Given the description of an element on the screen output the (x, y) to click on. 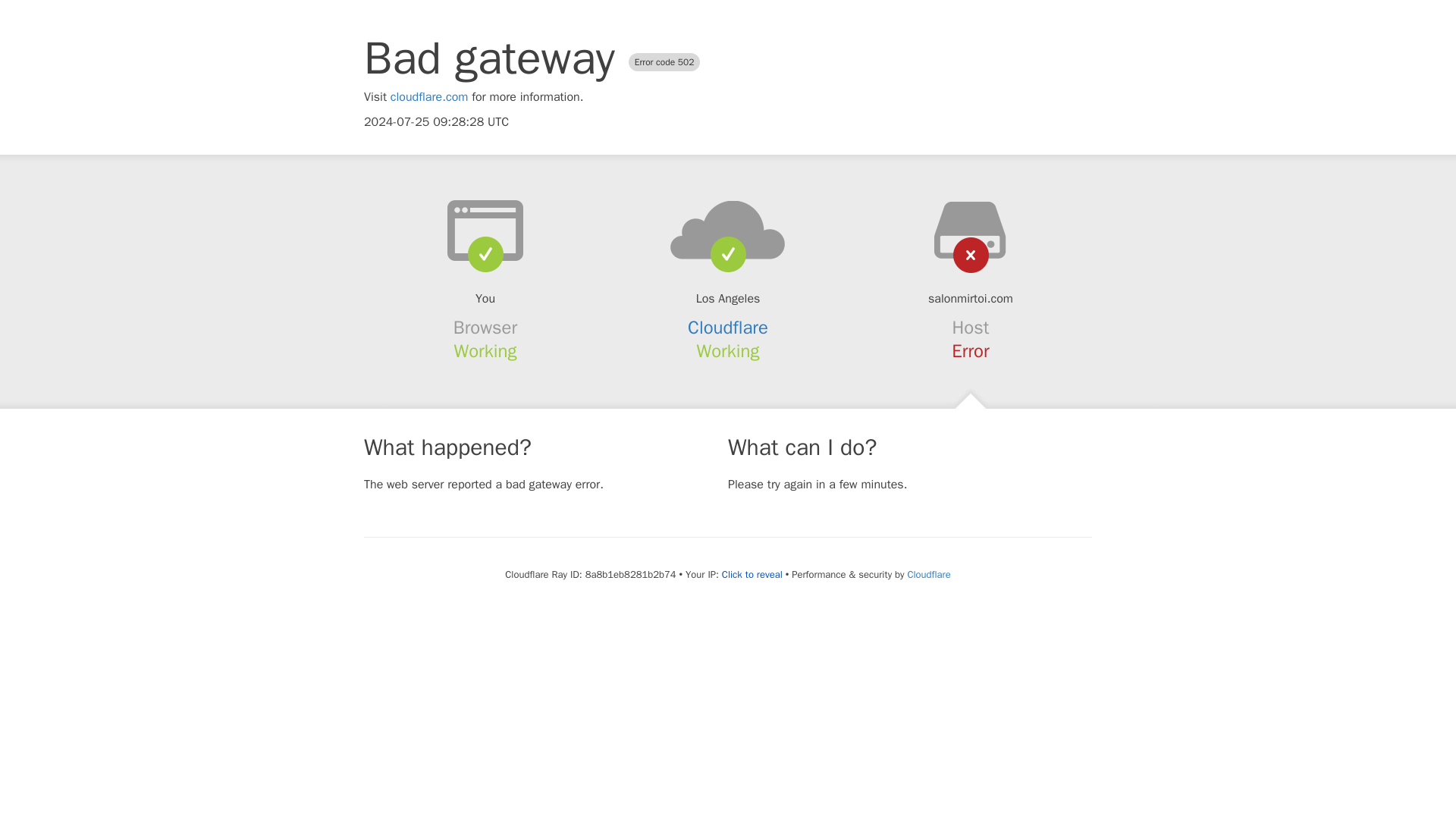
cloudflare.com (429, 96)
Cloudflare (727, 327)
Cloudflare (928, 574)
Click to reveal (752, 574)
